Given the description of an element on the screen output the (x, y) to click on. 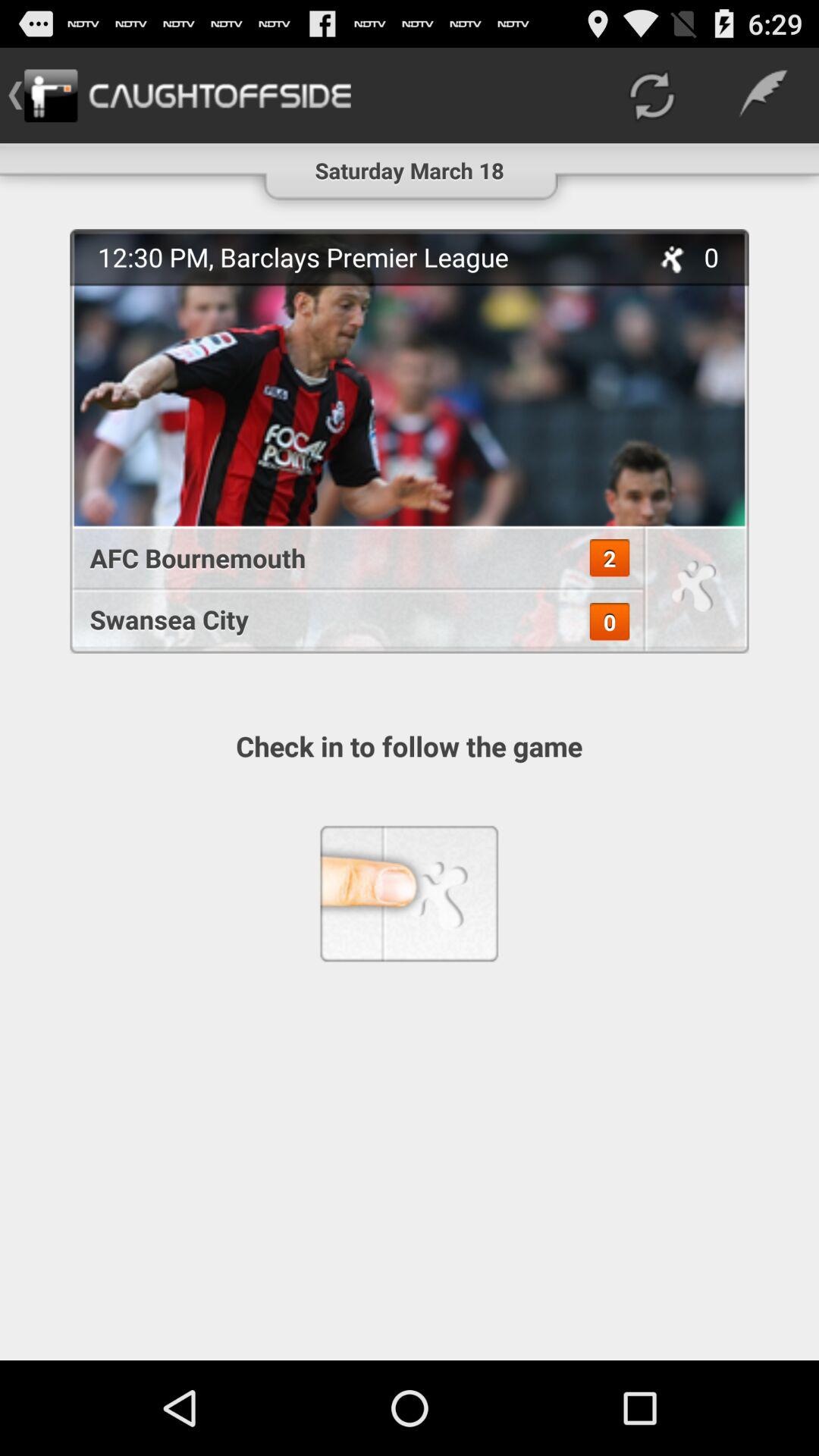
select the 2 app (609, 558)
